Given the description of an element on the screen output the (x, y) to click on. 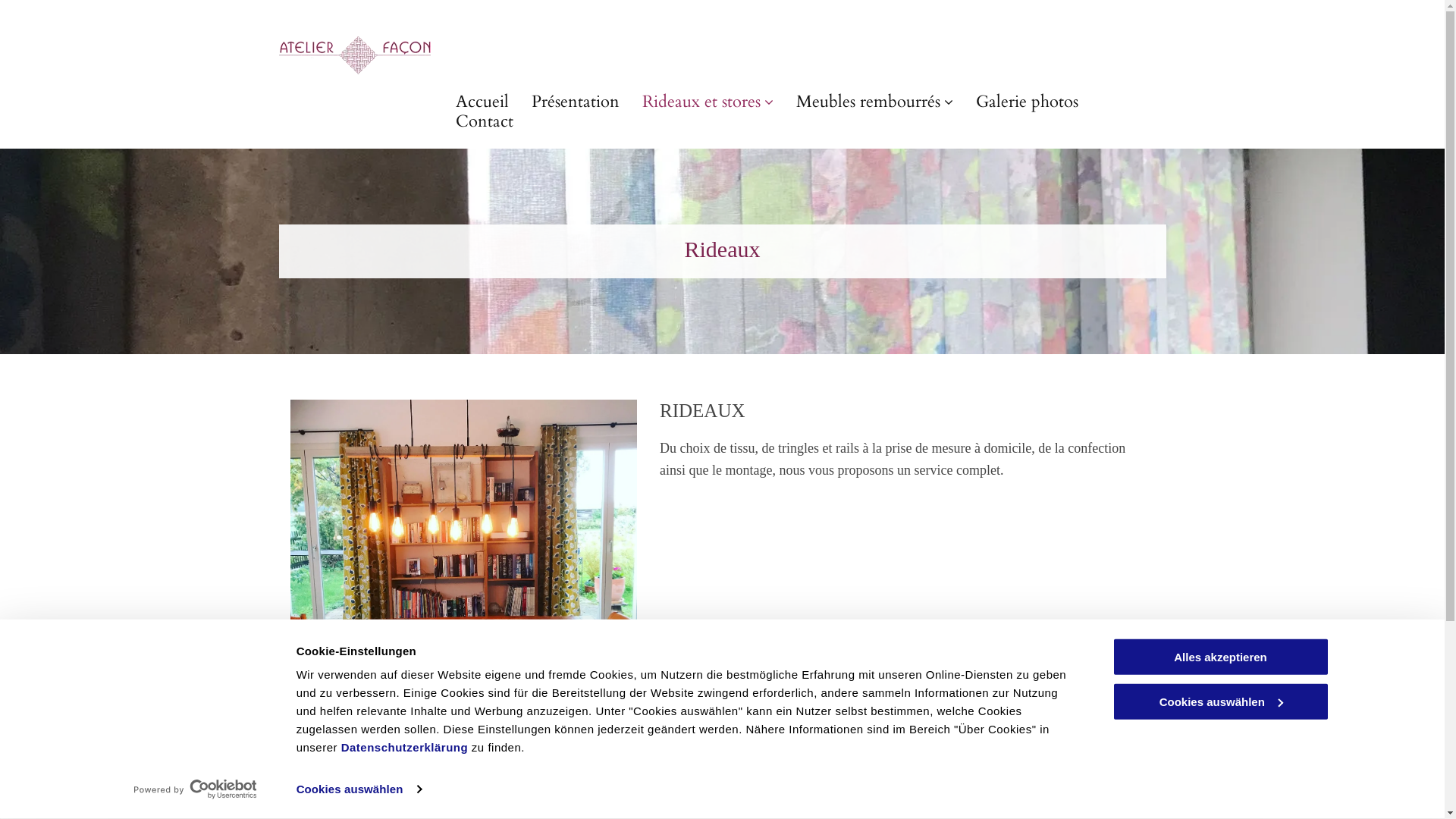
Contact Element type: text (484, 121)
Galerie photos Element type: text (1026, 101)
Alles akzeptieren Element type: text (1219, 656)
Rideaux et stores Element type: text (707, 101)
Accueil Element type: text (481, 101)
